Given the description of an element on the screen output the (x, y) to click on. 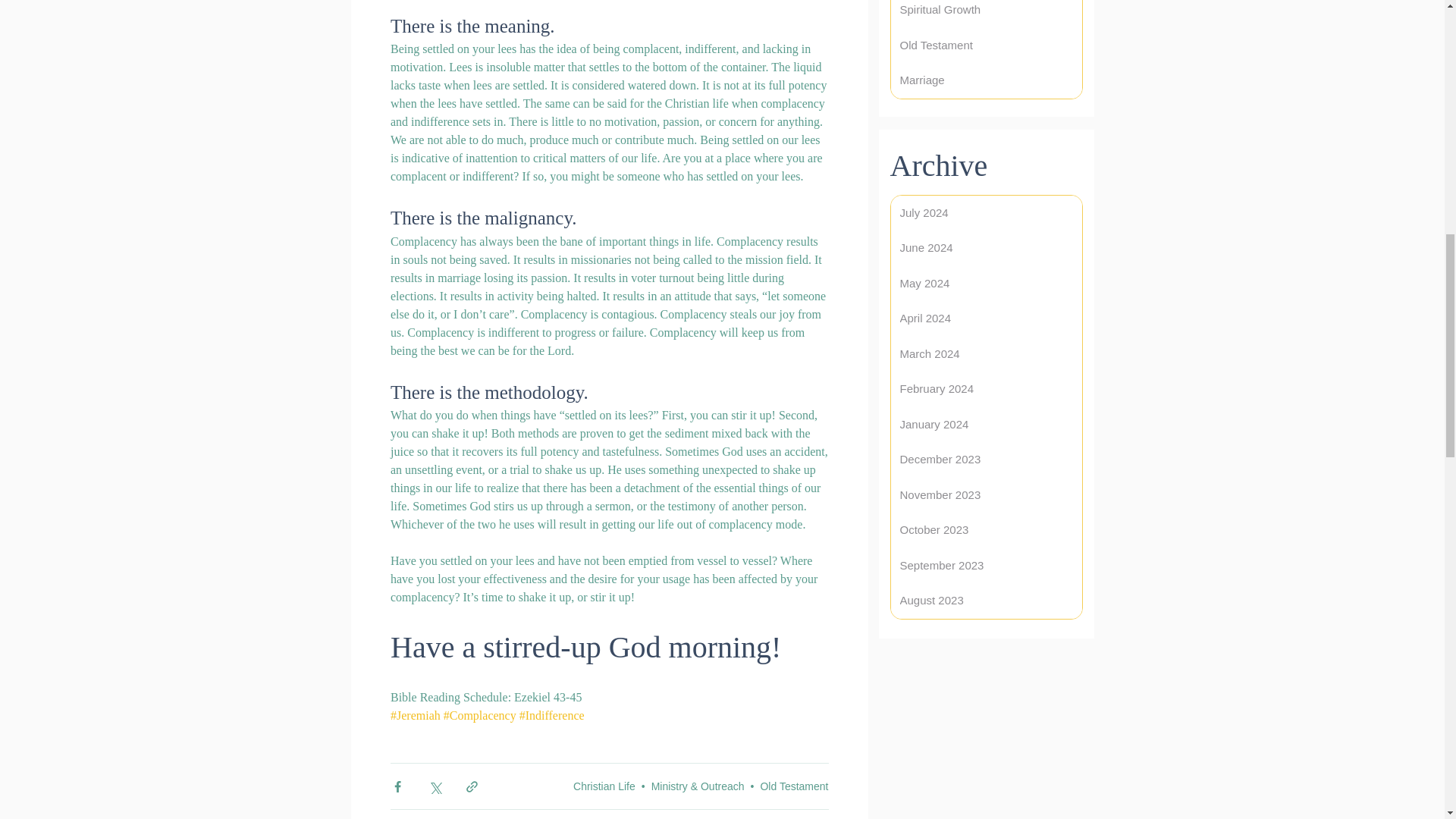
May 2024 (985, 283)
January 2024 (985, 424)
July 2024 (985, 212)
Marriage (985, 80)
Old Testament (985, 45)
April 2024 (985, 318)
February 2024 (985, 389)
September 2023 (985, 565)
August 2023 (985, 601)
June 2024 (985, 248)
March 2024 (985, 354)
October 2023 (985, 529)
November 2023 (985, 495)
Spiritual Growth (985, 13)
December 2023 (985, 459)
